Given the description of an element on the screen output the (x, y) to click on. 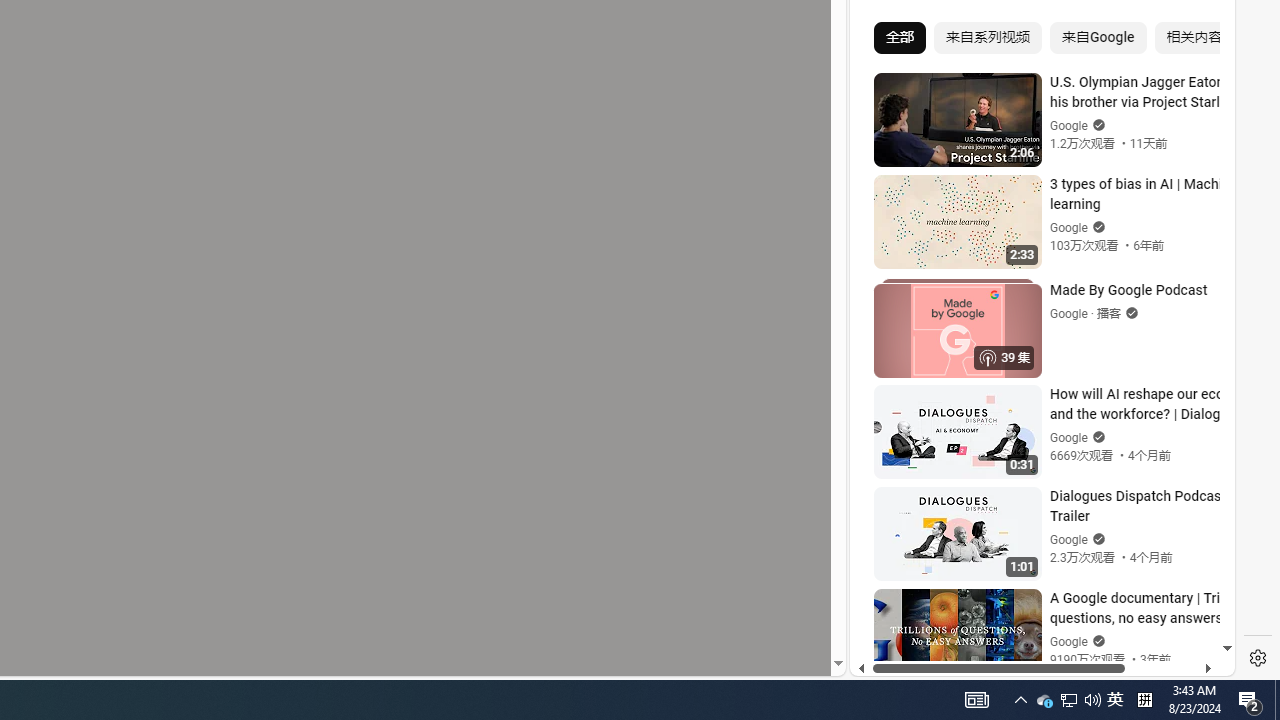
YouTube (1034, 432)
you (1034, 609)
